Given the description of an element on the screen output the (x, y) to click on. 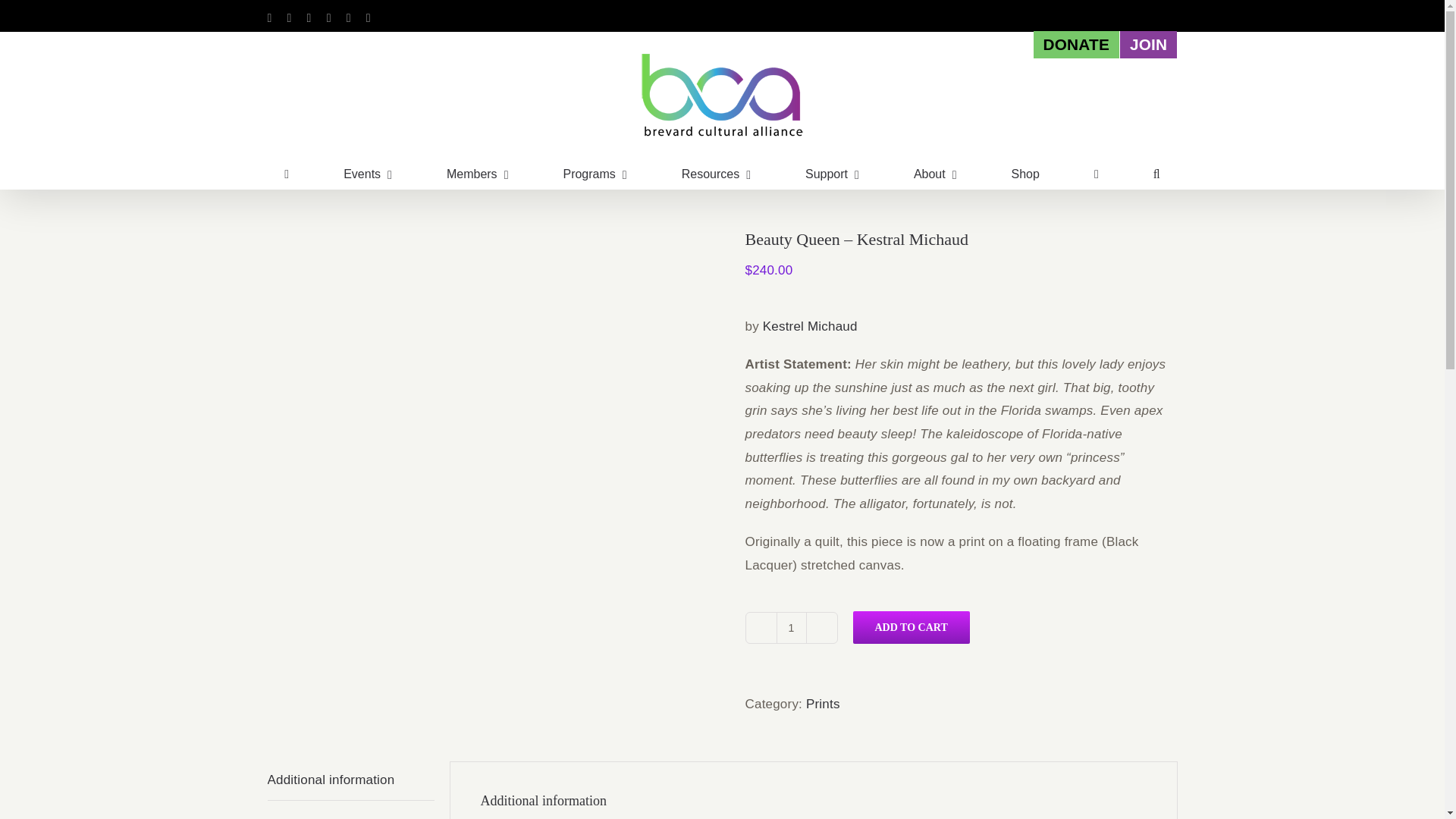
About (935, 173)
Support (832, 173)
1 (791, 627)
Resources (716, 173)
DONATE (1075, 44)
JOIN (1147, 44)
Events (367, 173)
Members (477, 173)
Programs (594, 173)
